Given the description of an element on the screen output the (x, y) to click on. 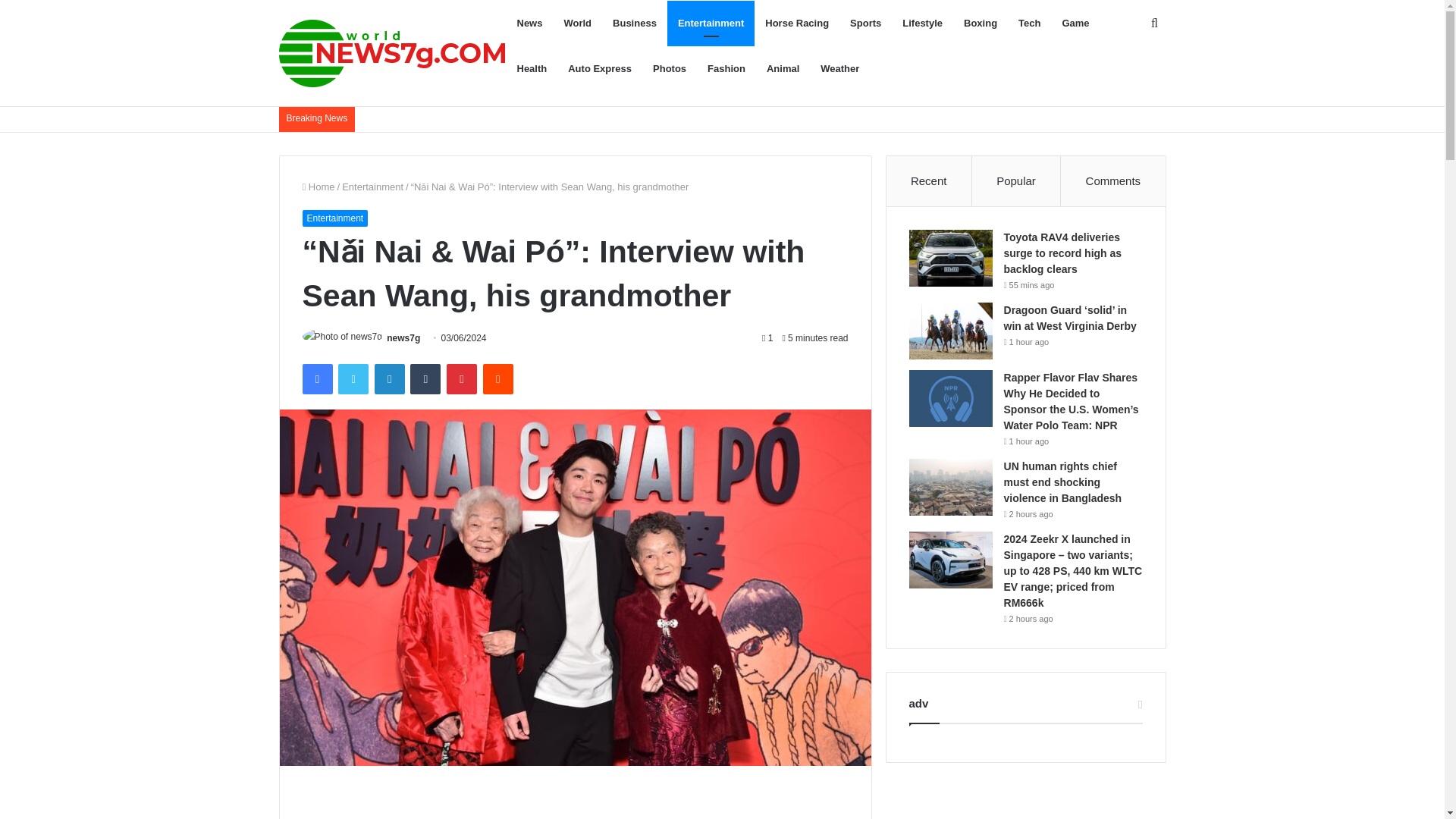
Lifestyle (922, 22)
Twitter (352, 378)
Tech (1029, 22)
News (529, 22)
Animal (782, 68)
Reddit (498, 378)
Fashion (726, 68)
Auto Express (599, 68)
Game (1075, 22)
Facebook (316, 378)
Business (634, 22)
Facebook (316, 378)
Tumblr (425, 378)
Tumblr (425, 378)
Home (317, 186)
